Given the description of an element on the screen output the (x, y) to click on. 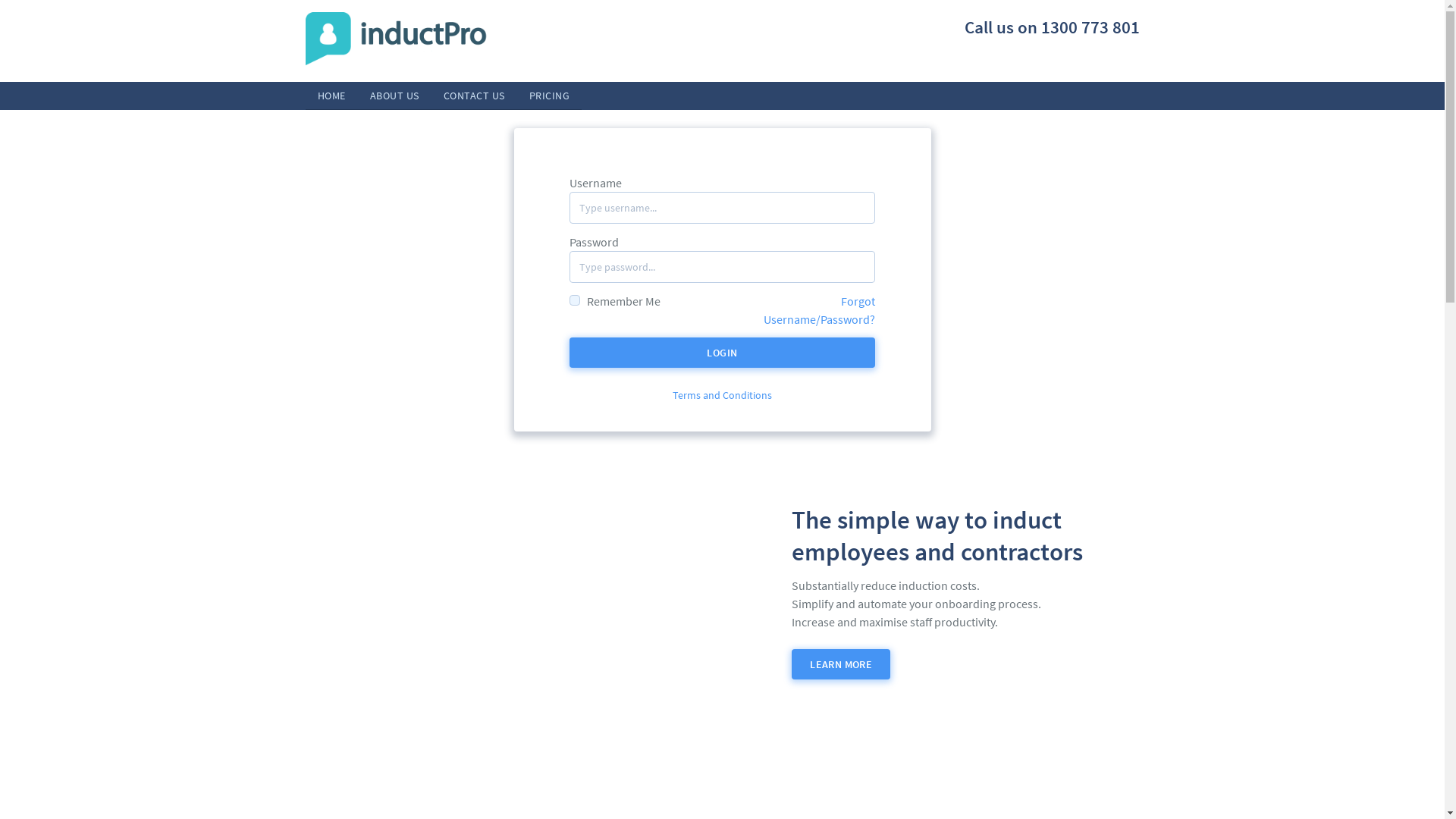
CONTACT US Element type: text (473, 95)
PRICING Element type: text (549, 95)
Forgot Username/Password? Element type: text (819, 309)
ABOUT US Element type: text (394, 95)
Terms and Conditions Element type: text (721, 394)
LOGIN Element type: text (721, 352)
HOME Element type: text (330, 95)
LEARN MORE Element type: text (840, 664)
